Given the description of an element on the screen output the (x, y) to click on. 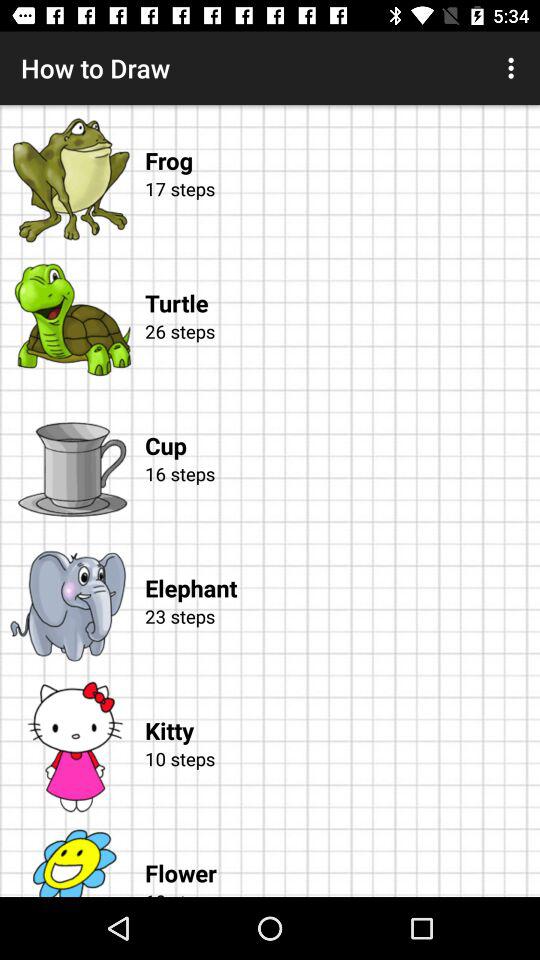
swipe until cup (342, 425)
